Given the description of an element on the screen output the (x, y) to click on. 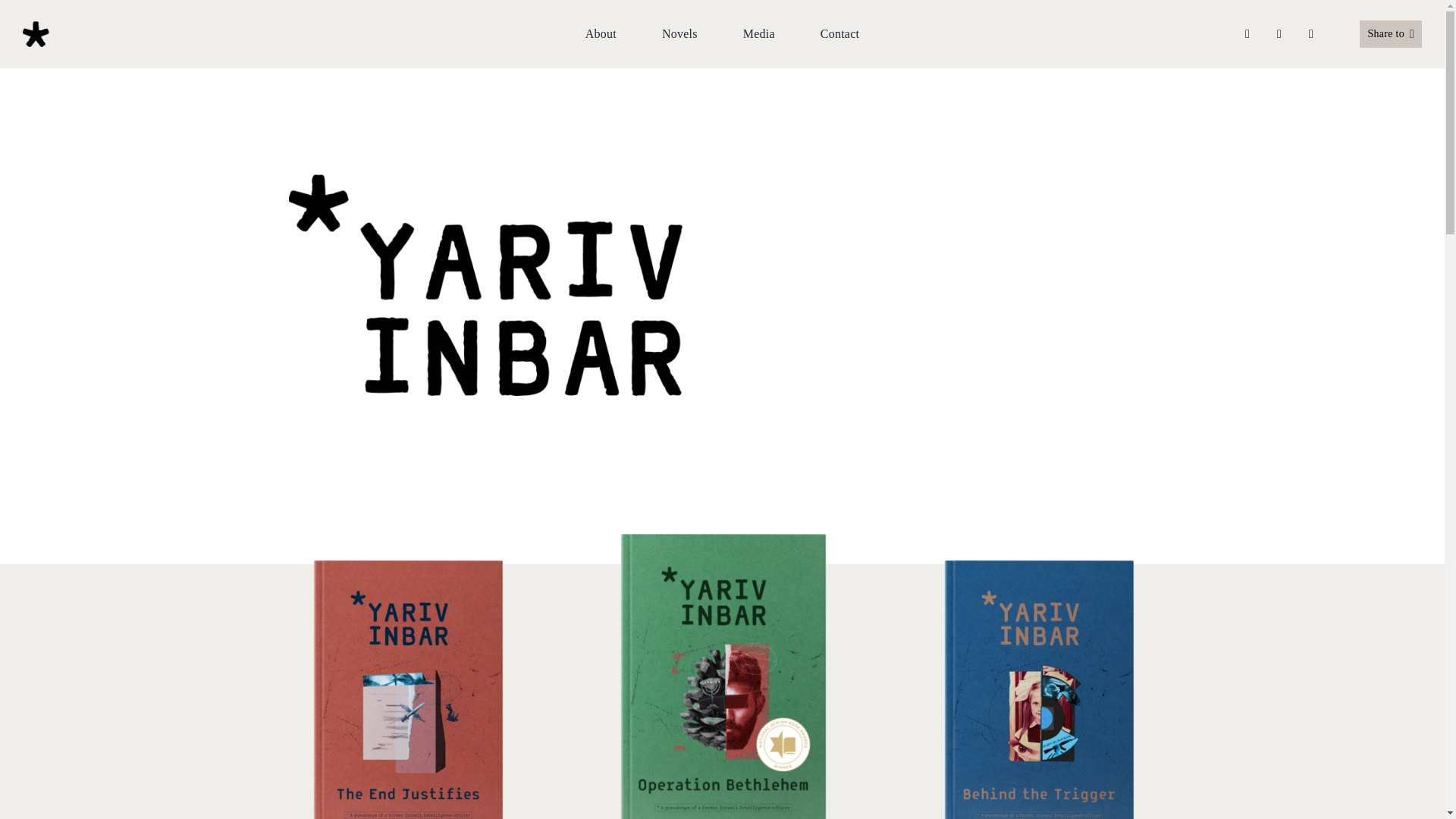
Facebook (1246, 33)
X (1278, 33)
Contact (840, 33)
Novels (679, 33)
Instagram (1310, 33)
About (600, 33)
Facebook (1390, 34)
Share to (1390, 34)
Media (758, 33)
